Given the description of an element on the screen output the (x, y) to click on. 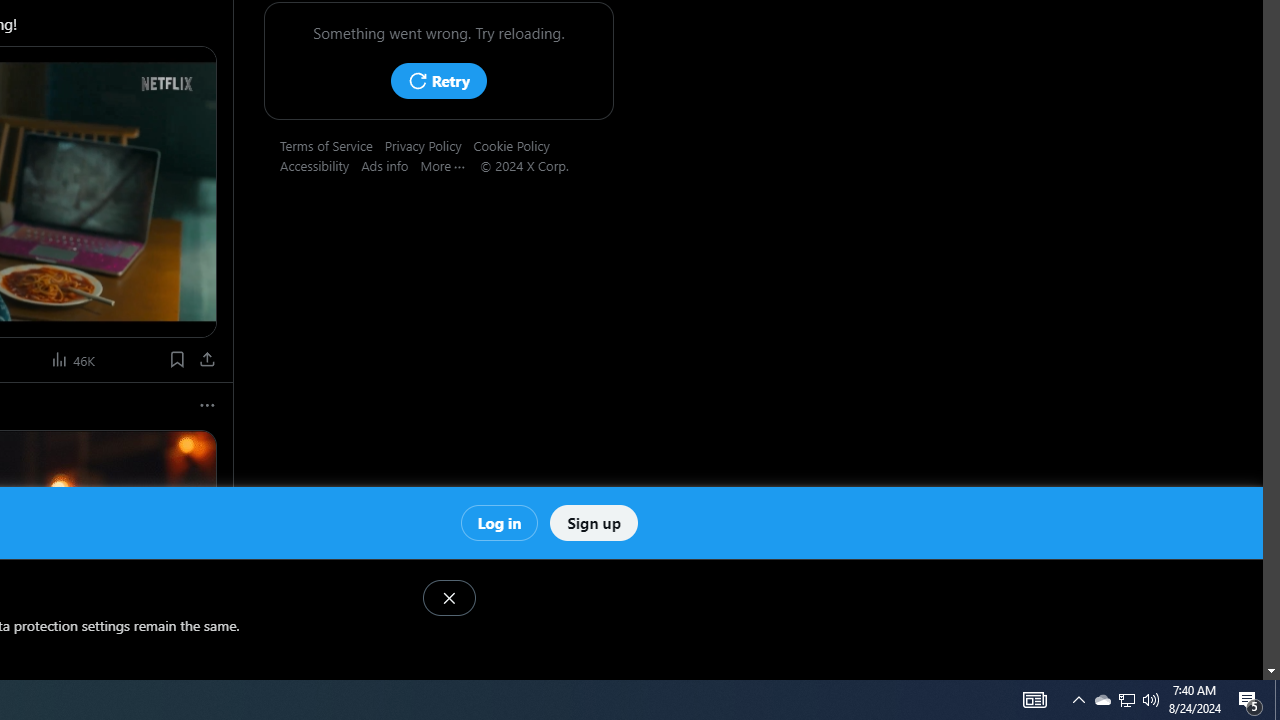
46751 views. View post analytics (73, 359)
Share post (207, 359)
Cookie Policy (517, 145)
Sign up (593, 522)
Ads info (390, 165)
More (450, 165)
Bookmark (176, 359)
Log in (498, 522)
Accessibility (321, 165)
Retry (438, 80)
